Given the description of an element on the screen output the (x, y) to click on. 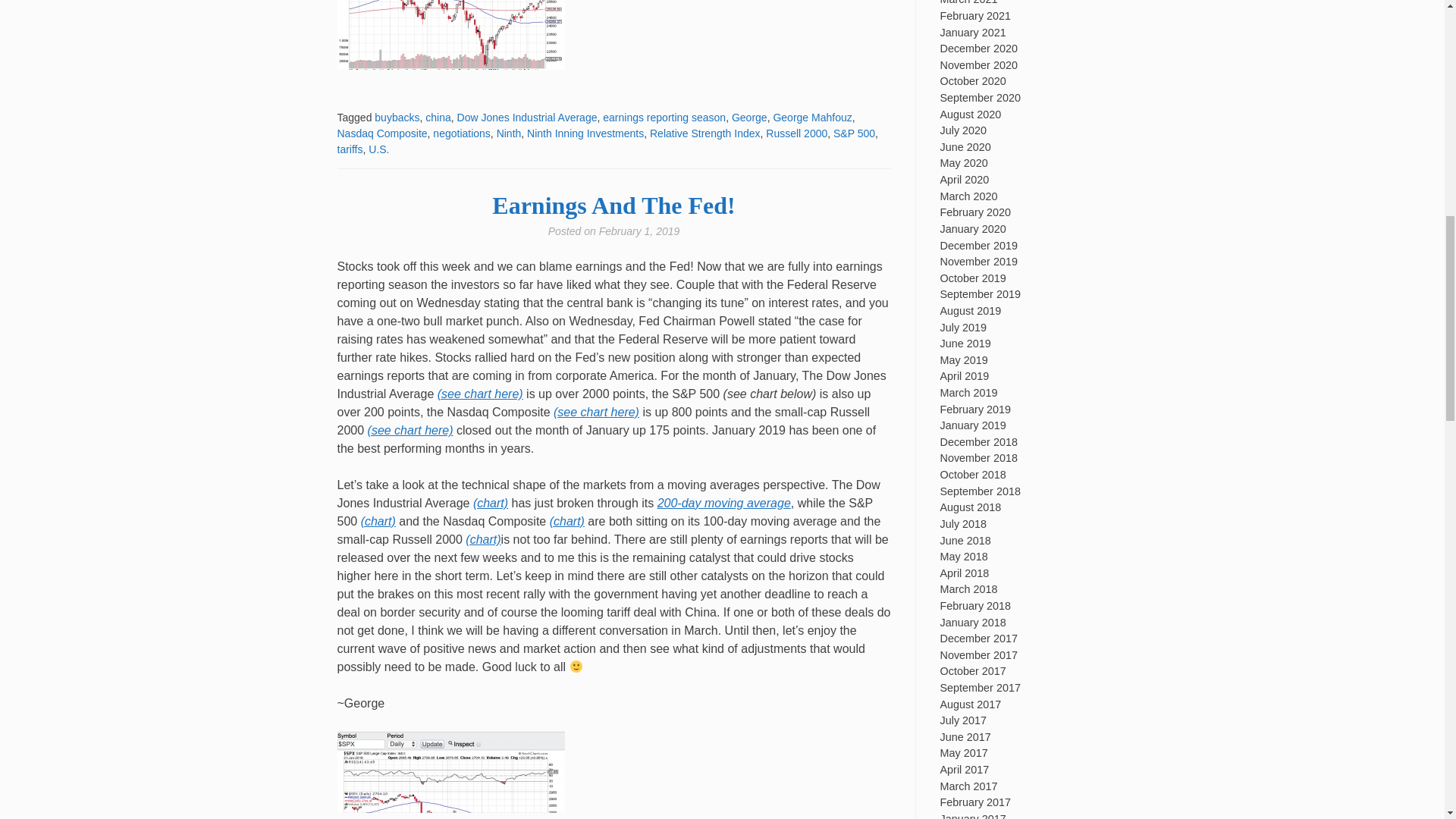
200-day moving average (724, 502)
Earnings And The Fed! (613, 205)
Ninth (508, 133)
George Mahfouz (812, 117)
Dow Jones Industrial Average (526, 117)
buybacks (396, 117)
Nasdaq Composite (381, 133)
Relative Strength Index (704, 133)
Russell 2000 (796, 133)
Ninth Inning Investments (585, 133)
